Given the description of an element on the screen output the (x, y) to click on. 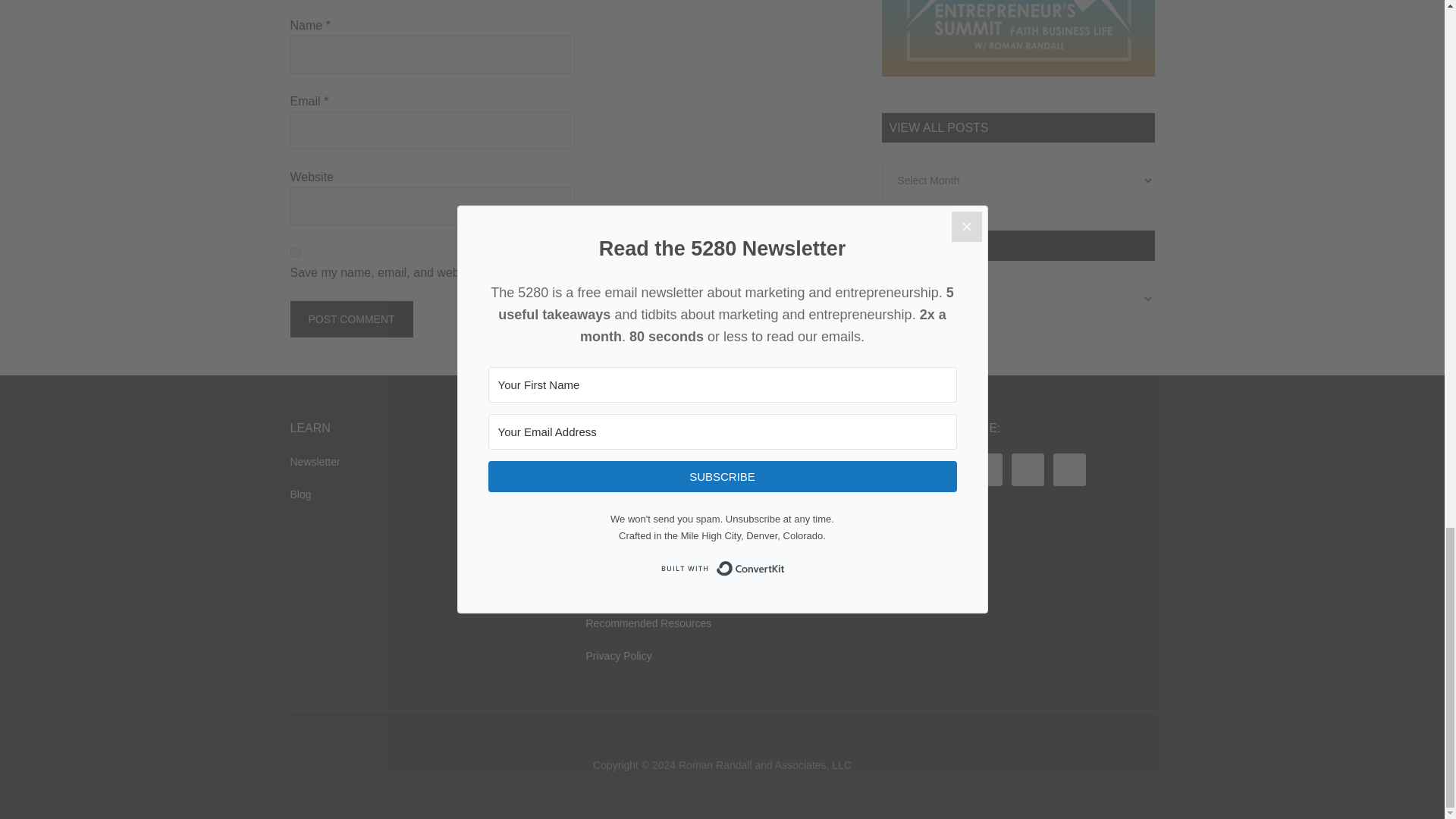
yes (294, 252)
Post Comment (350, 319)
